Given the description of an element on the screen output the (x, y) to click on. 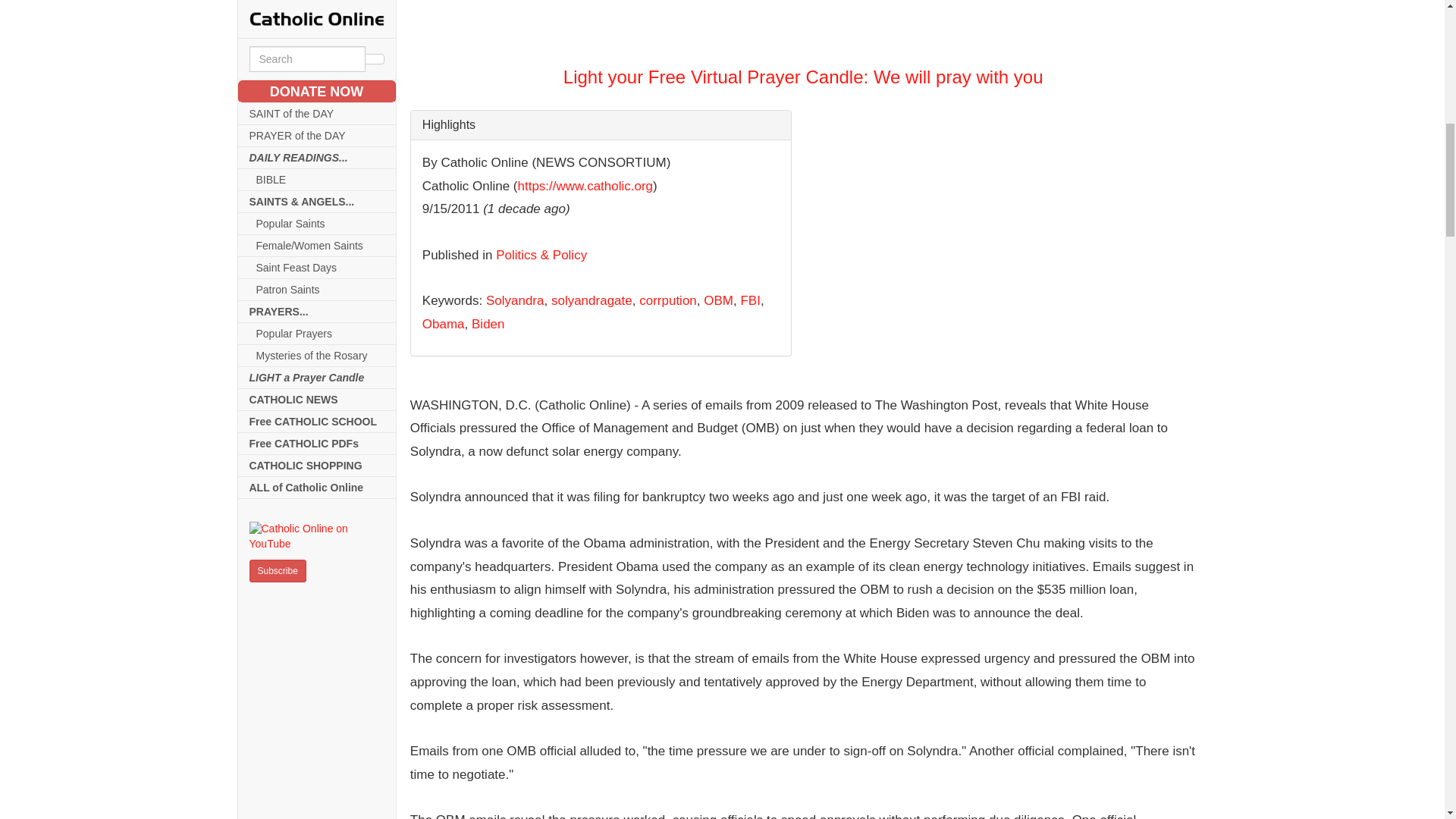
Solyandra (515, 300)
Light your Free Virtual Prayer Candle: We will pray with you (803, 43)
Light your Free Virtual Prayer Candle: We will pray with you (802, 26)
